Given the description of an element on the screen output the (x, y) to click on. 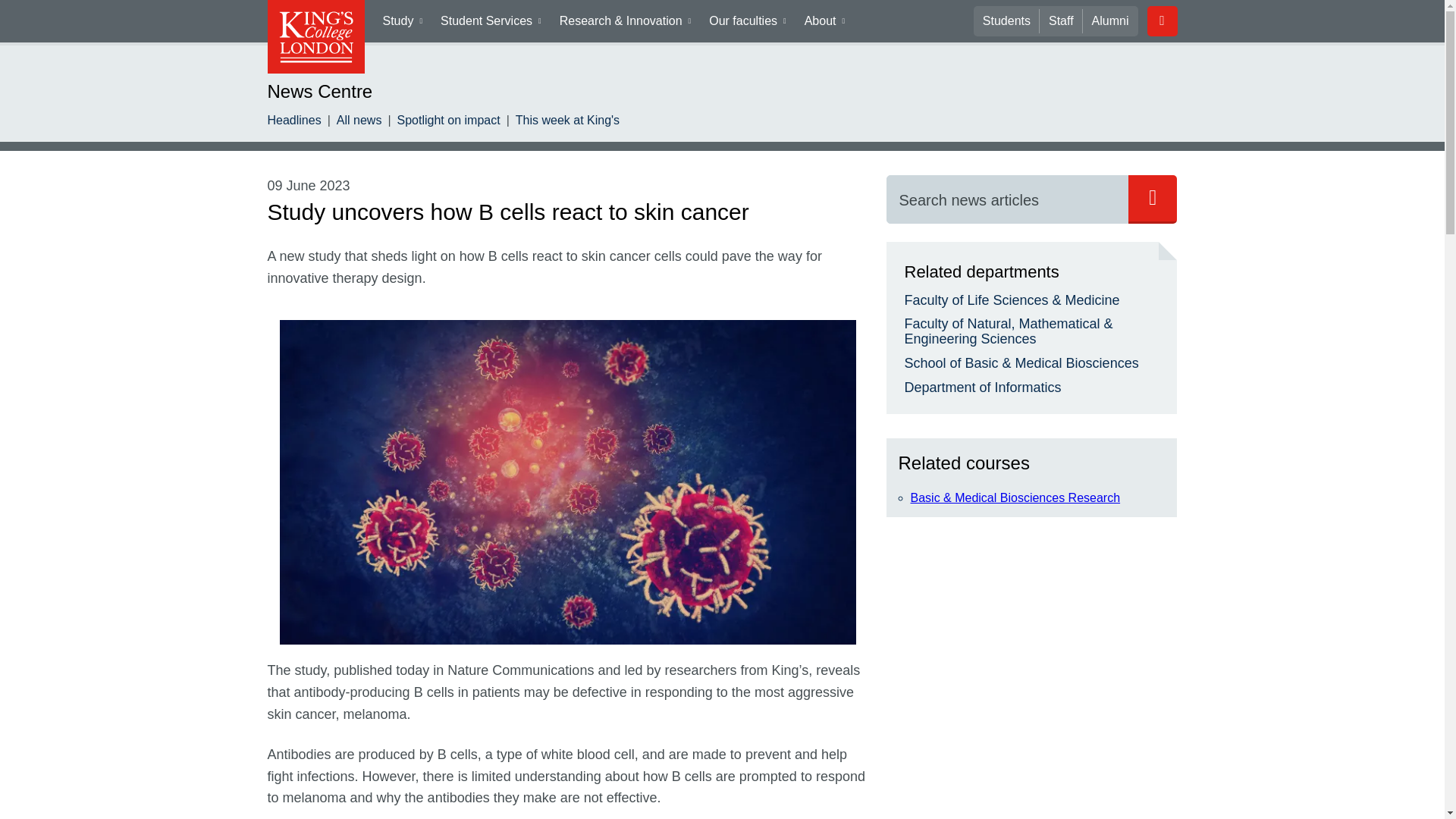
Search (1006, 199)
